Given the description of an element on the screen output the (x, y) to click on. 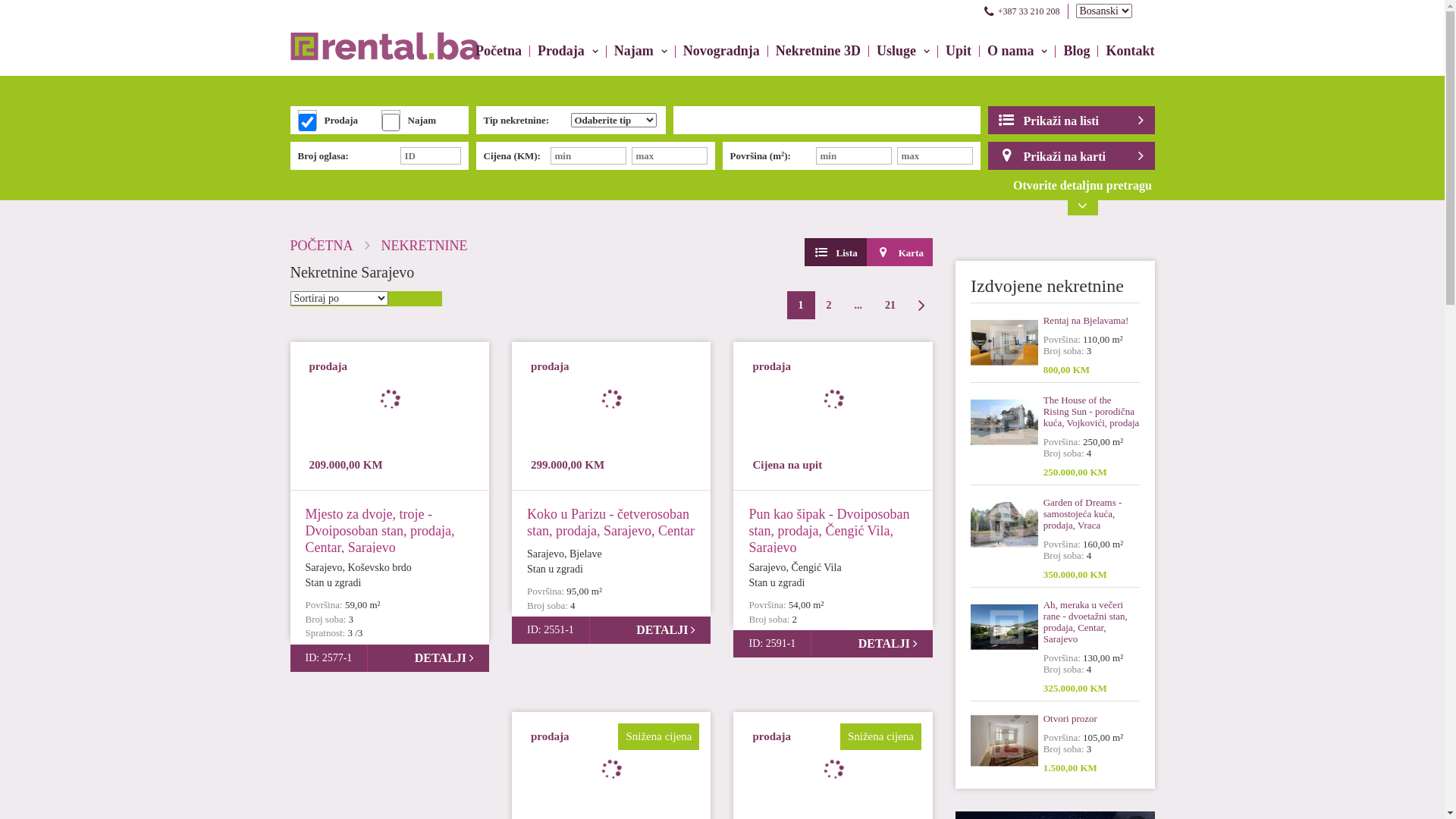
prodaja Element type: text (328, 366)
Nekretnine 3D Element type: text (818, 50)
Rentaj na Bjelavama! Element type: text (1091, 320)
... Element type: text (858, 305)
prodaja Element type: text (549, 736)
Upit Element type: text (958, 50)
Lista Element type: text (835, 252)
Otvorite detaljnu pretragu Element type: text (1082, 196)
2 Element type: text (828, 305)
Rental.ba Element type: hover (384, 30)
Kontakt Element type: text (1126, 50)
DETALJI Element type: text (443, 657)
21 Element type: text (889, 305)
Karta Element type: text (899, 252)
Blog Element type: text (1076, 50)
O nama Element type: text (1017, 51)
Novogradnja Element type: text (721, 50)
1 Element type: text (801, 305)
prodaja Element type: text (771, 736)
+387 33 210 208 Element type: text (1022, 11)
prodaja Element type: text (549, 366)
DETALJI Element type: text (665, 629)
NEKRETNINE Element type: text (424, 245)
Prodaja Element type: text (567, 51)
Otvori prozor Element type: text (1091, 718)
Usluge Element type: text (903, 51)
prodaja Element type: text (771, 366)
Najam Element type: text (640, 51)
DETALJI Element type: text (887, 643)
